Given the description of an element on the screen output the (x, y) to click on. 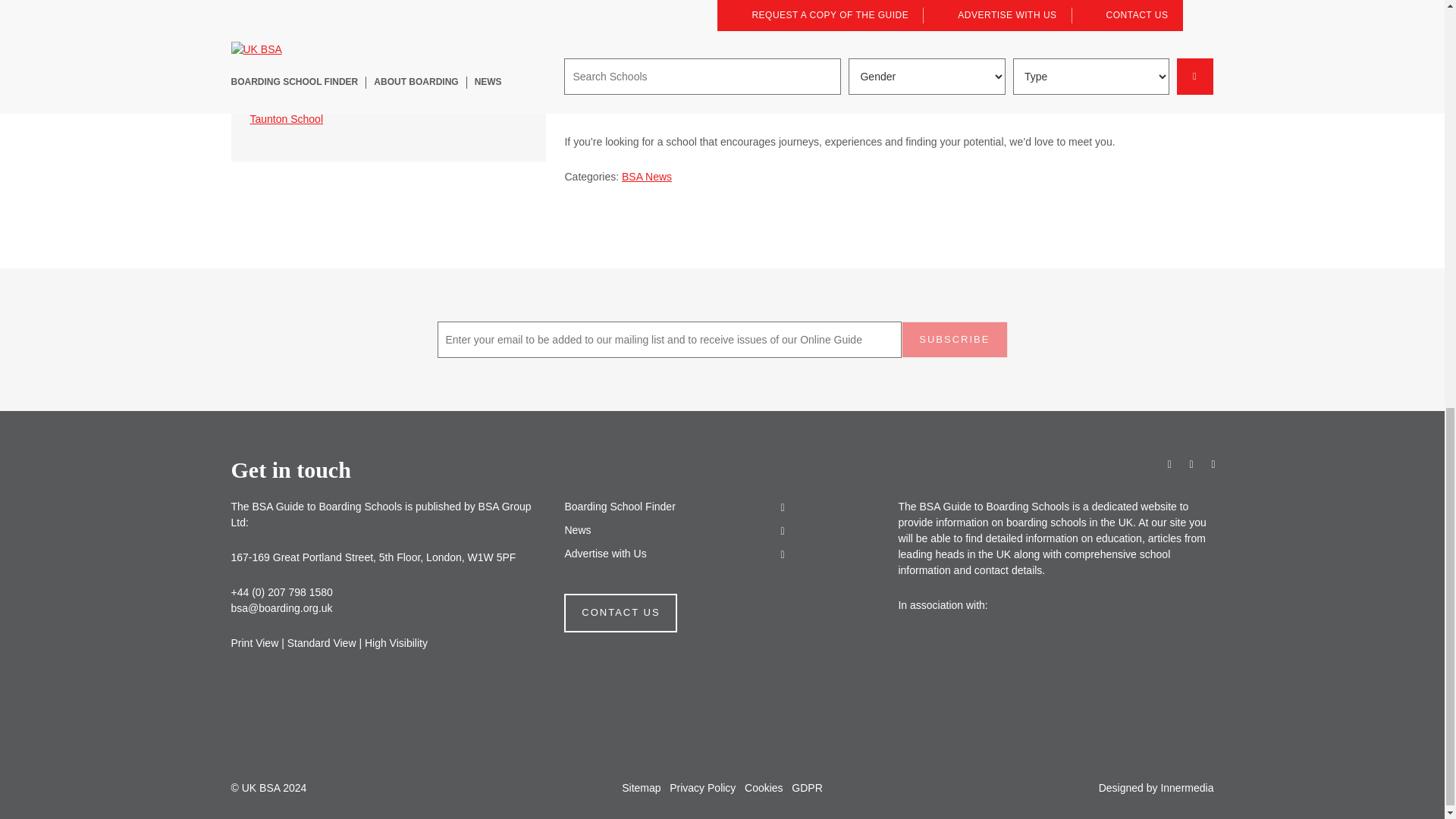
Switch to High Visibility (396, 643)
Switch to Print (254, 643)
BSA News (646, 176)
Switch to Standard Visibility (321, 643)
